Given the description of an element on the screen output the (x, y) to click on. 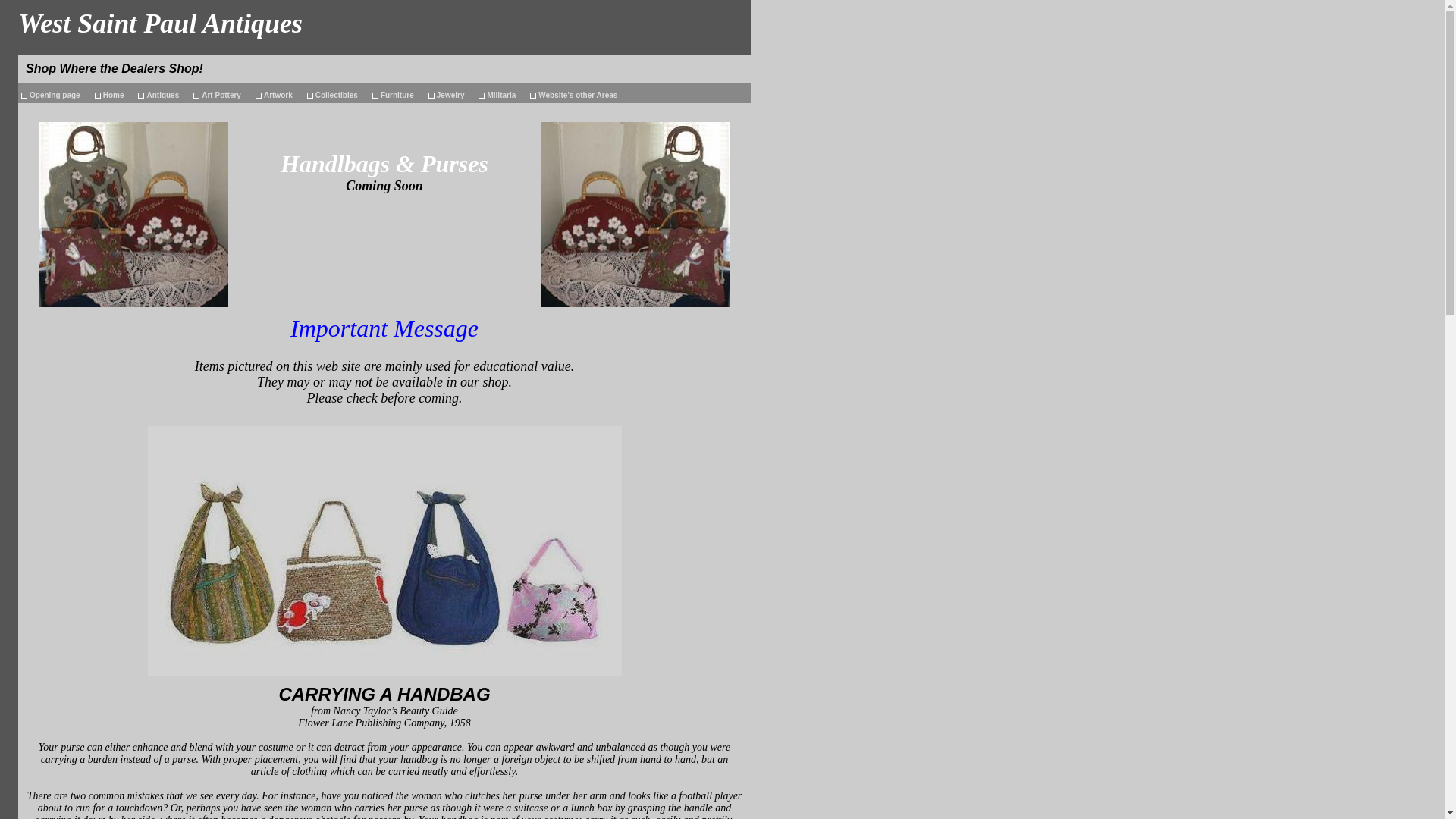
Art Pottery (220, 93)
Antiques (162, 93)
Opening page (54, 93)
Home (113, 93)
